Given the description of an element on the screen output the (x, y) to click on. 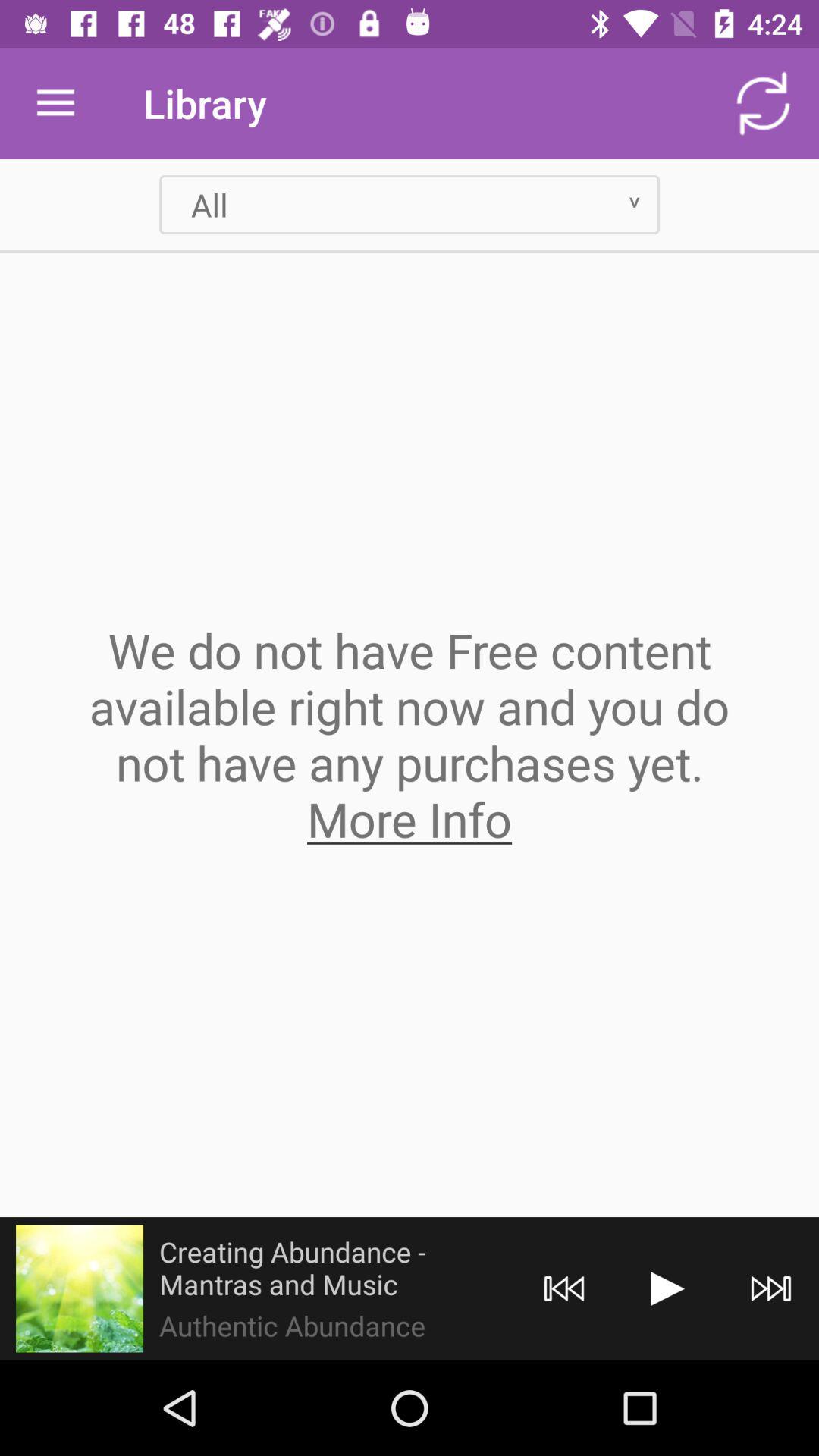
choose icon to the right of library item (763, 103)
